Given the description of an element on the screen output the (x, y) to click on. 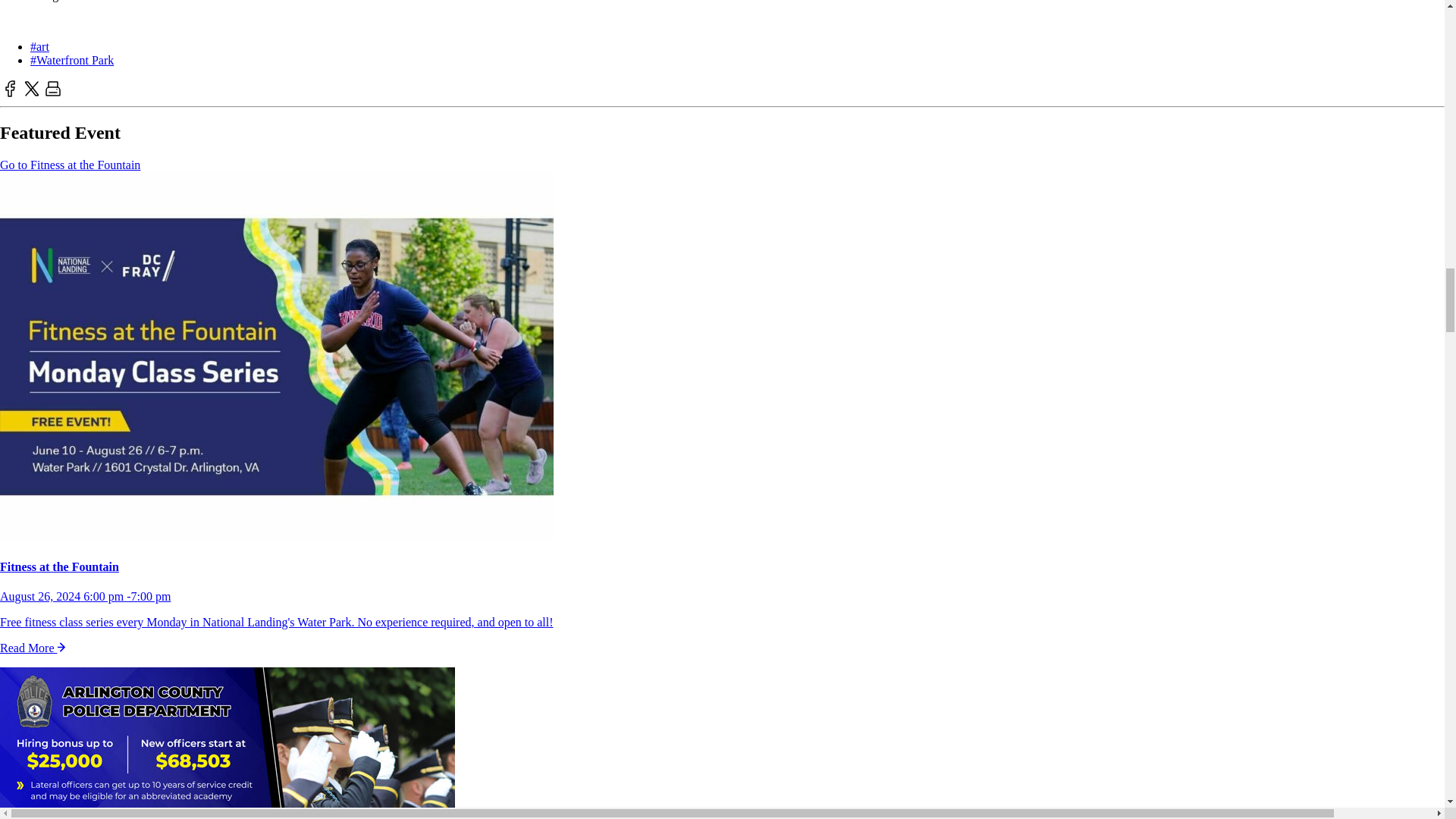
Arlington County Police Department Join Today B ALXnow (227, 743)
